Given the description of an element on the screen output the (x, y) to click on. 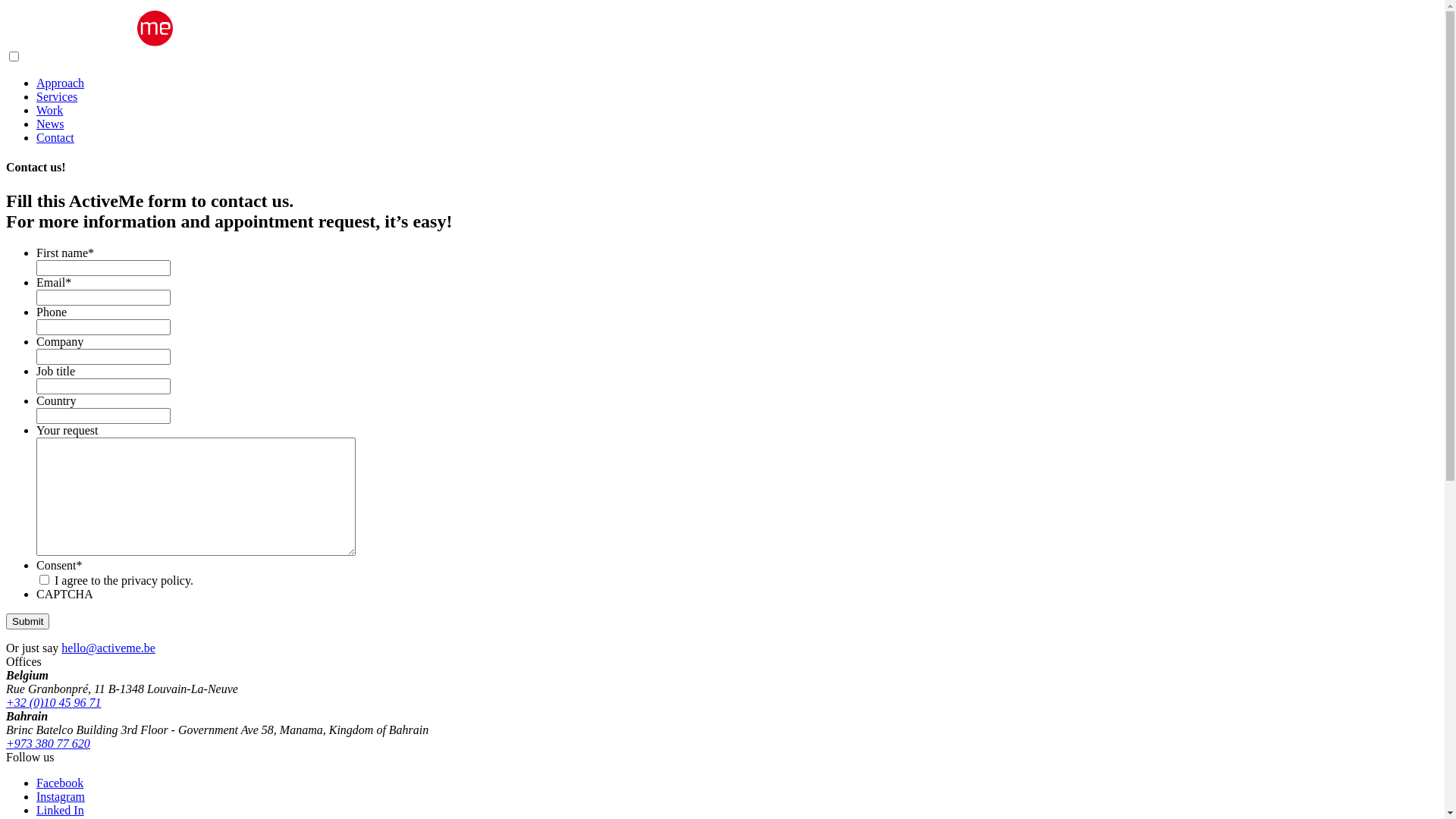
Submit Element type: text (27, 621)
Linked In Element type: text (60, 809)
+973 380 77 620 Element type: text (48, 743)
Approach Element type: text (60, 82)
Services Element type: text (56, 96)
Work Element type: text (49, 109)
Instagram Element type: text (60, 796)
+32 (0)10 45 96 71 Element type: text (53, 702)
hello@activeme.be Element type: text (108, 647)
Contact Element type: text (55, 137)
News Element type: text (49, 123)
Facebook Element type: text (59, 782)
